Given the description of an element on the screen output the (x, y) to click on. 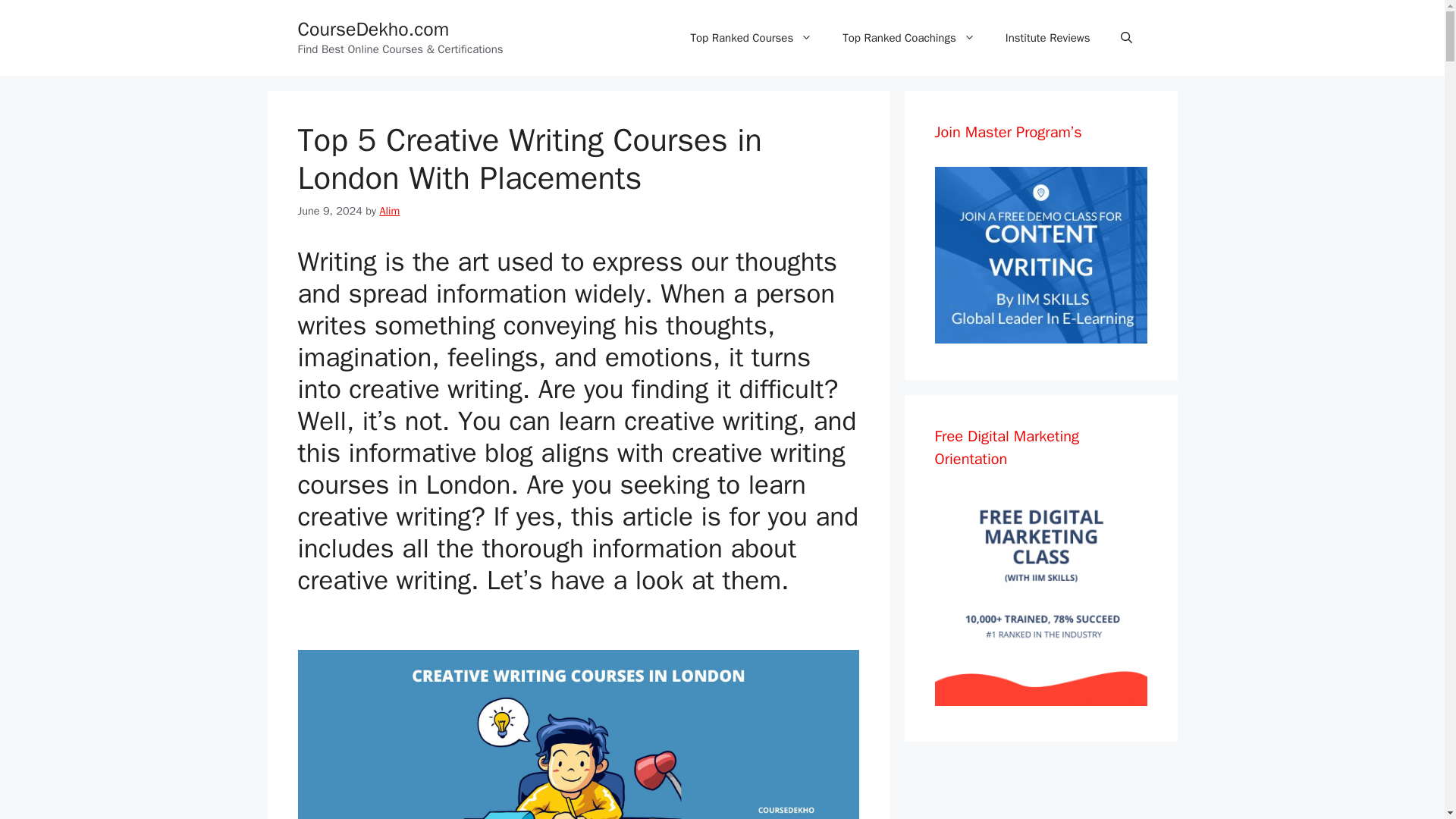
Top Ranked Coachings (908, 37)
Top Ranked Courses (751, 37)
CourseDekho.com (372, 28)
View all posts by Alim (388, 210)
Alim (388, 210)
Institute Reviews (1047, 37)
